Given the description of an element on the screen output the (x, y) to click on. 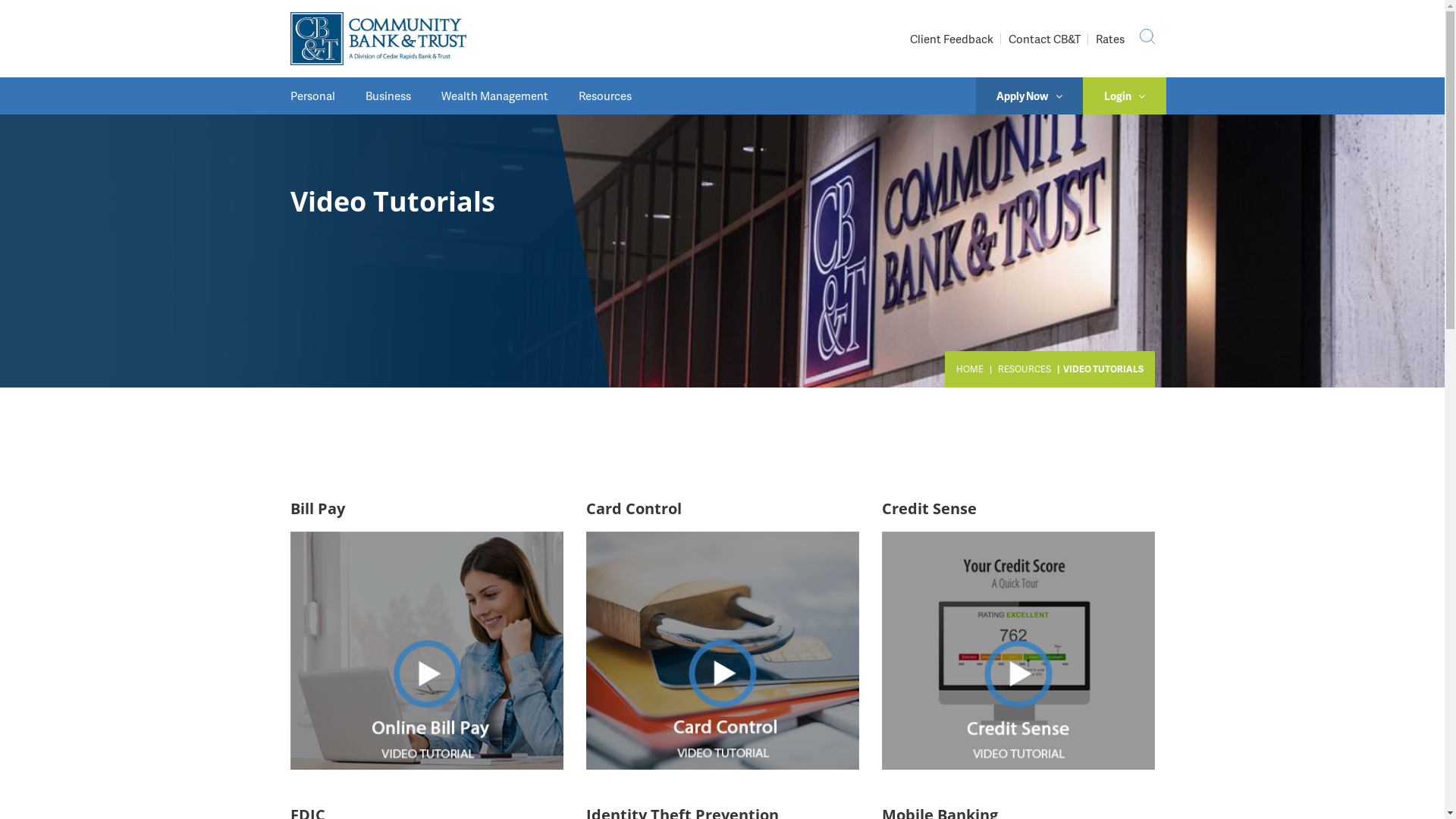
Apply Now Element type: text (1028, 95)
Interactive Video Player Element type: hover (1017, 648)
Interactive Video Player Element type: hover (721, 648)
HOME Element type: text (968, 368)
Contact CB&T Element type: text (1044, 38)
RESOURCES Element type: text (1024, 368)
Resources Element type: text (604, 95)
Business Element type: text (388, 95)
Wealth Management Element type: text (494, 95)
Community BT Element type: hover (377, 38)
Rates Element type: text (1109, 38)
Client Feedback Element type: text (951, 38)
Interactive Video Player Element type: hover (425, 648)
Personal Element type: text (319, 95)
Login Element type: text (1124, 95)
